Given the description of an element on the screen output the (x, y) to click on. 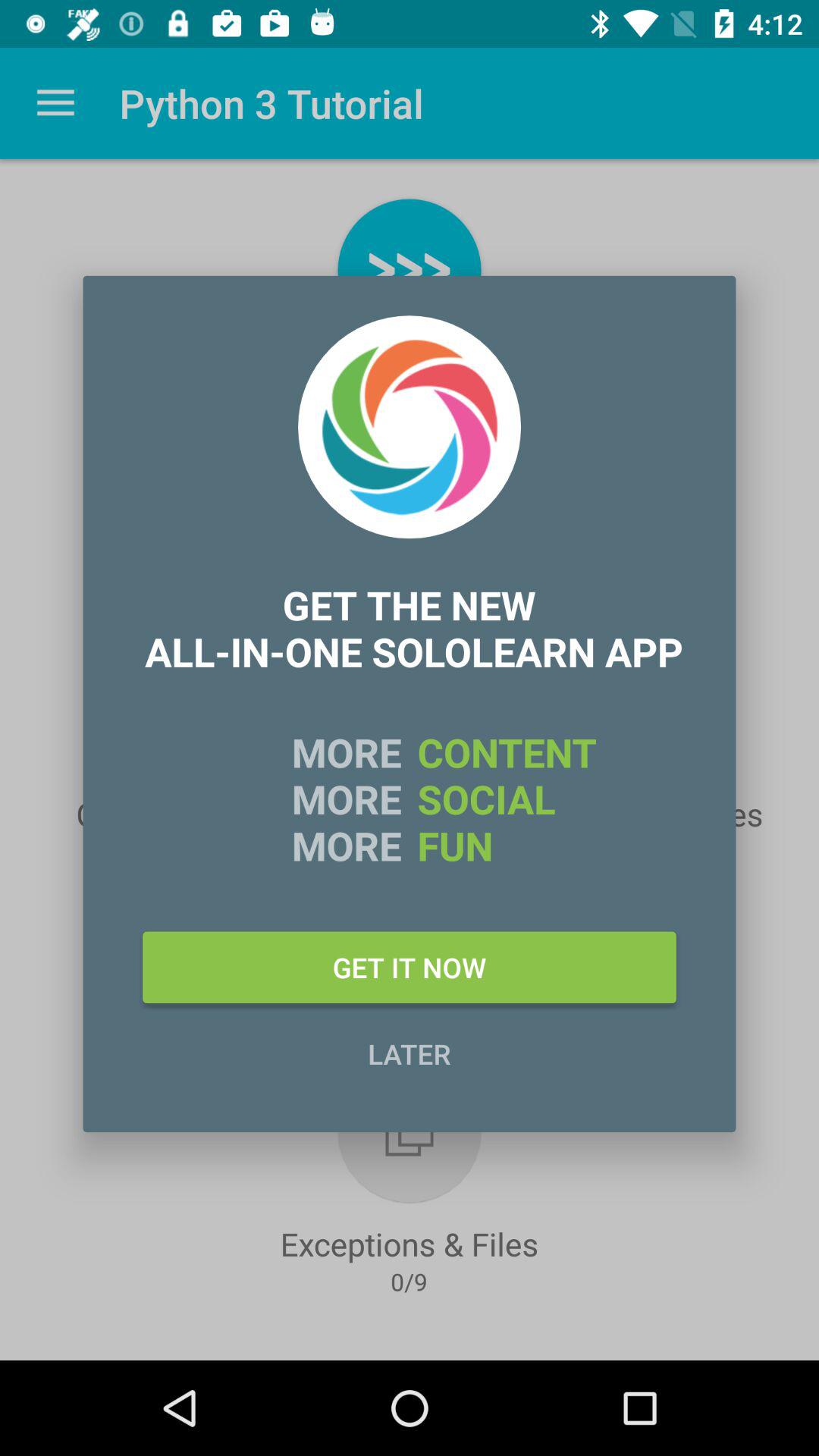
launch icon below more
more
more icon (409, 967)
